Given the description of an element on the screen output the (x, y) to click on. 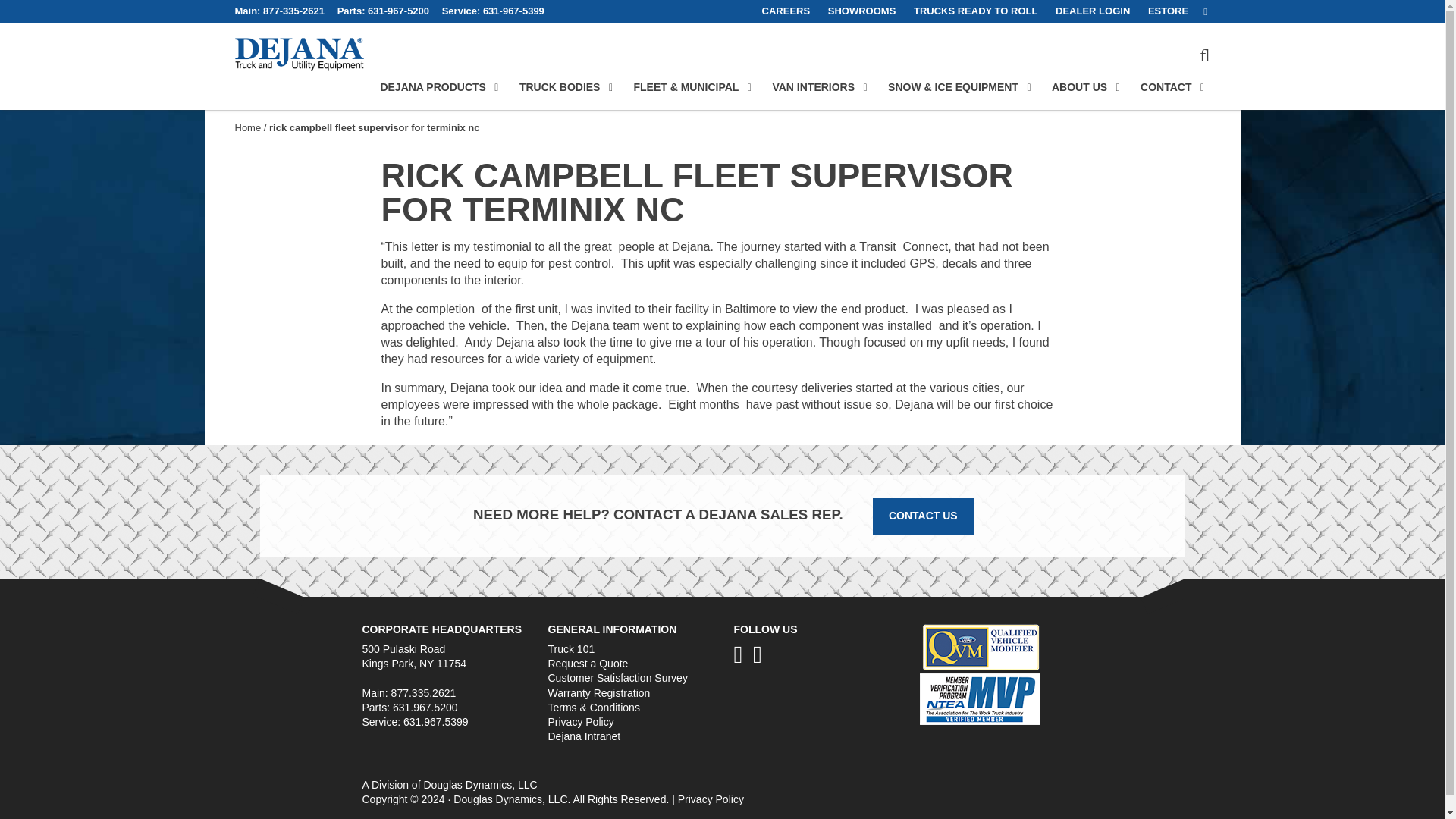
Submenu for Truck Bodies (609, 87)
TRUCK BODIES (559, 87)
DEJANA PRODUCTS (433, 87)
Submenu for Dejana Products (496, 87)
